Given the description of an element on the screen output the (x, y) to click on. 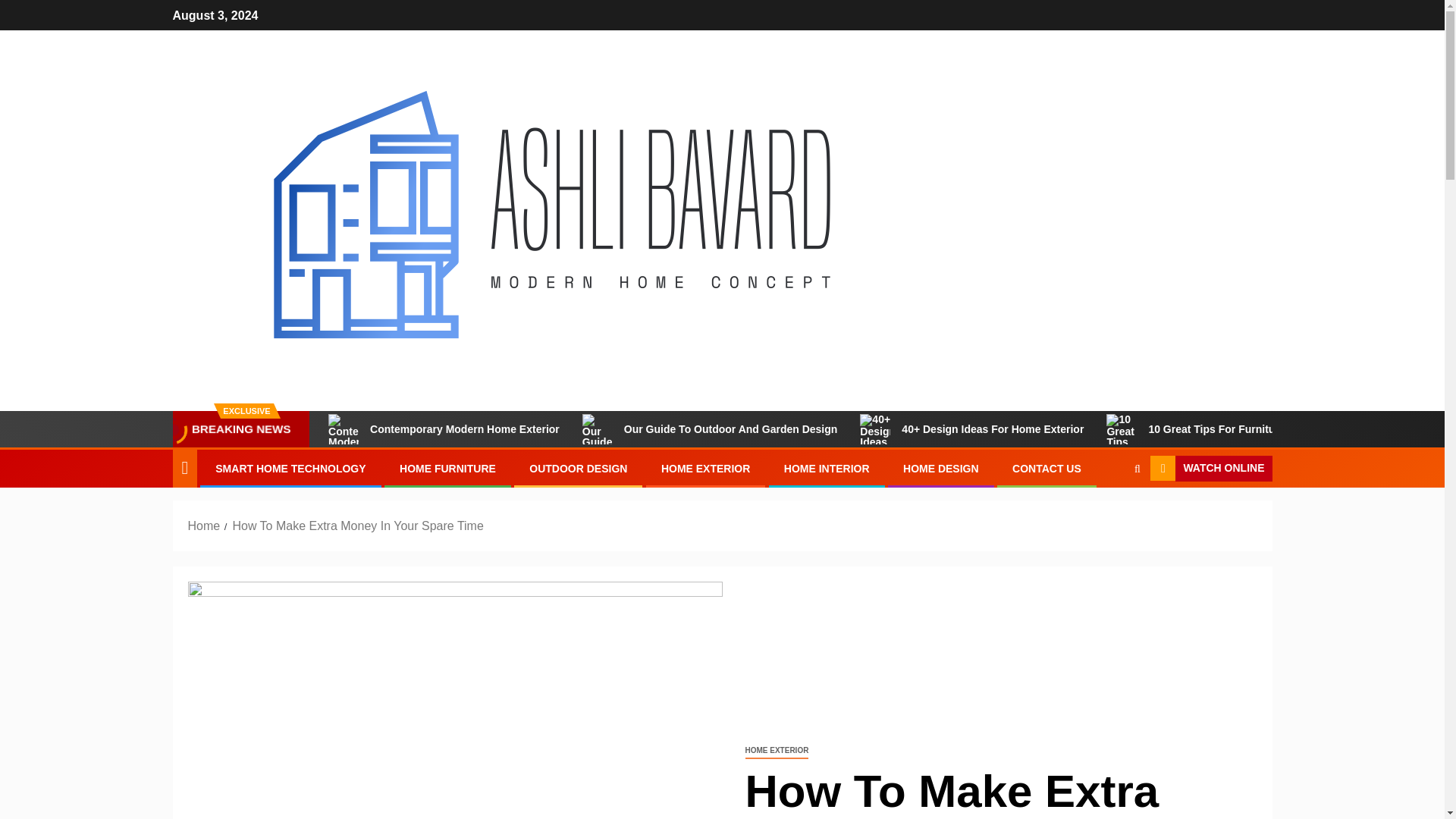
Contemporary Modern Home Exterior (443, 429)
10 Great Tips For Furniture Shopping (1221, 429)
HOME DESIGN (940, 468)
OUTDOOR DESIGN (578, 468)
HOME FURNITURE (447, 468)
HOME EXTERIOR (705, 468)
How To Make Extra Money In Your Spare Time (357, 525)
HOME EXTERIOR (776, 750)
Home (204, 525)
SMART HOME TECHNOLOGY (290, 468)
CONTACT US (1046, 468)
WATCH ONLINE (1210, 468)
HOME INTERIOR (826, 468)
Search (1107, 514)
Our Guide To Outdoor And Garden Design (709, 429)
